Given the description of an element on the screen output the (x, y) to click on. 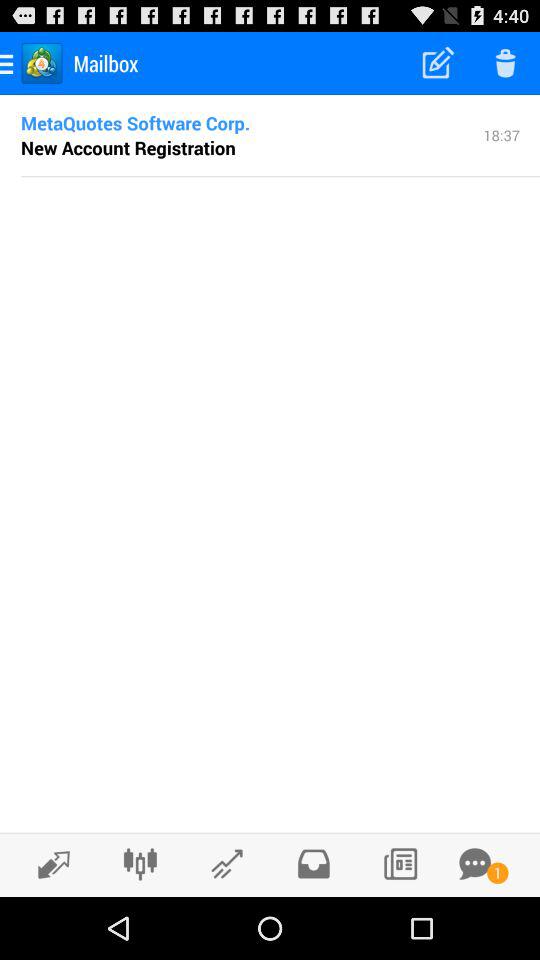
send email (226, 863)
